Given the description of an element on the screen output the (x, y) to click on. 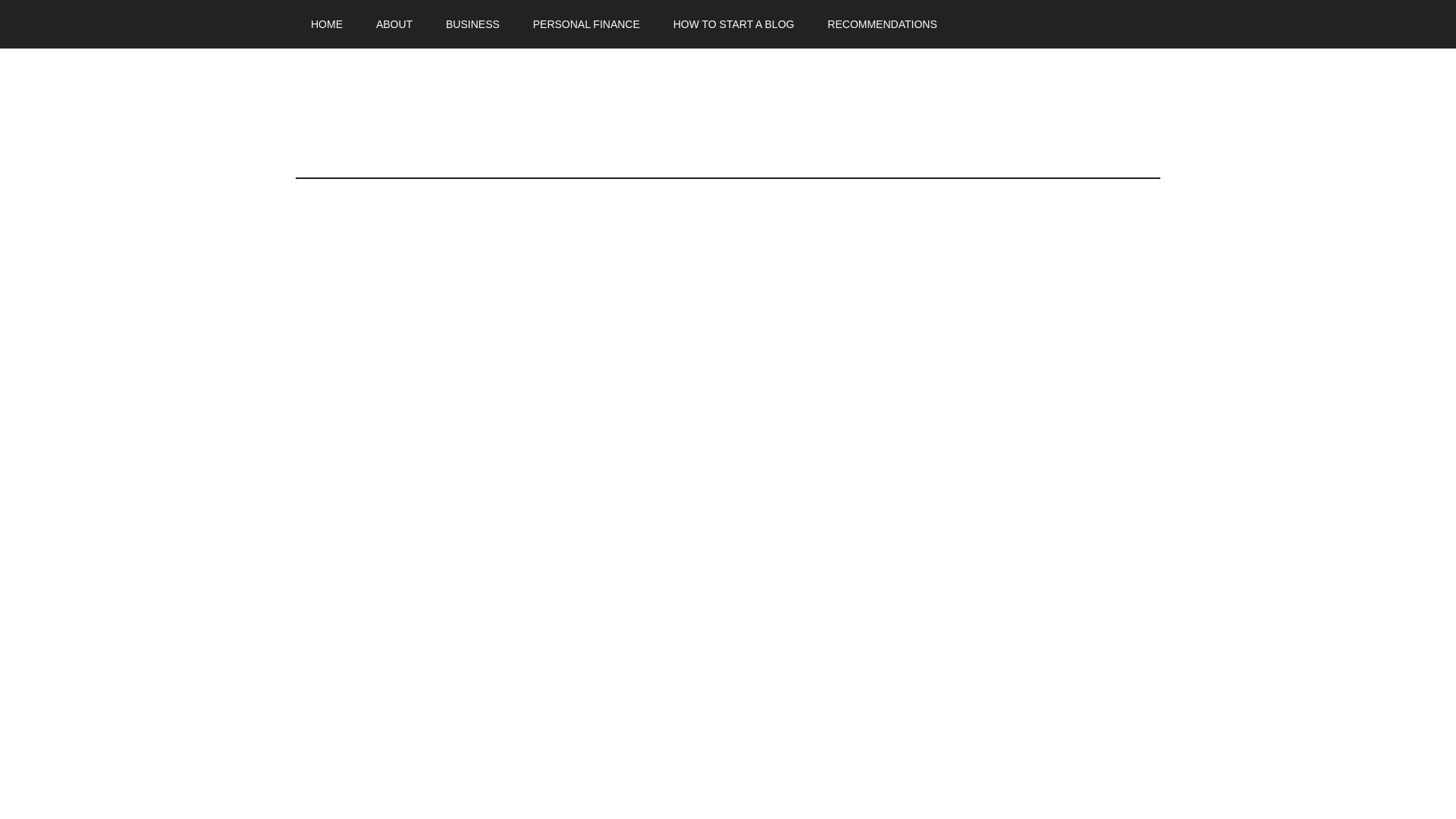
Untemplater (439, 112)
ABOUT (394, 24)
RECOMMENDATIONS (882, 24)
BUSINESS (472, 24)
PERSONAL FINANCE (586, 24)
HOW TO START A BLOG (733, 24)
HOME (326, 24)
